Given the description of an element on the screen output the (x, y) to click on. 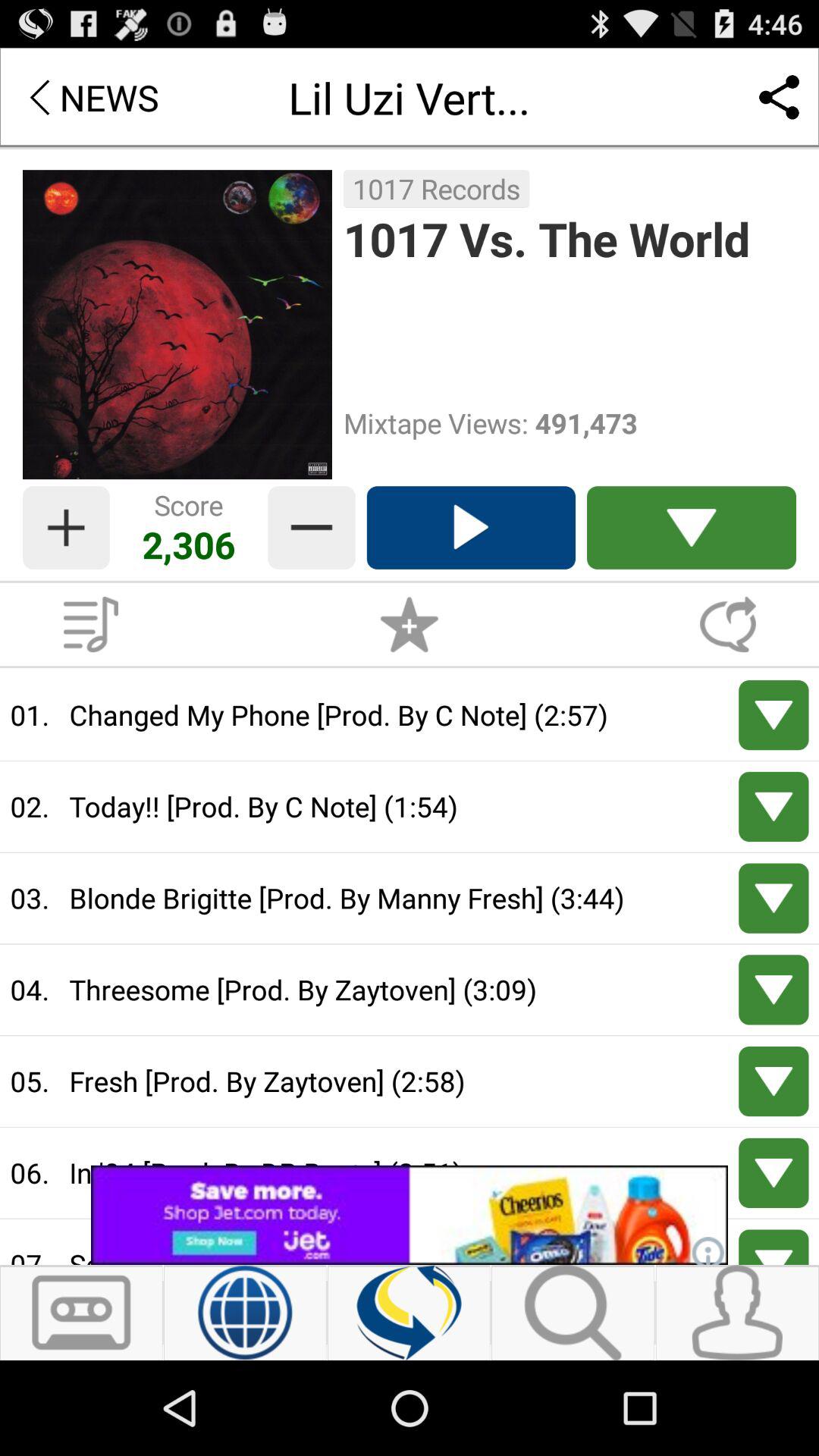
open song (773, 806)
